Given the description of an element on the screen output the (x, y) to click on. 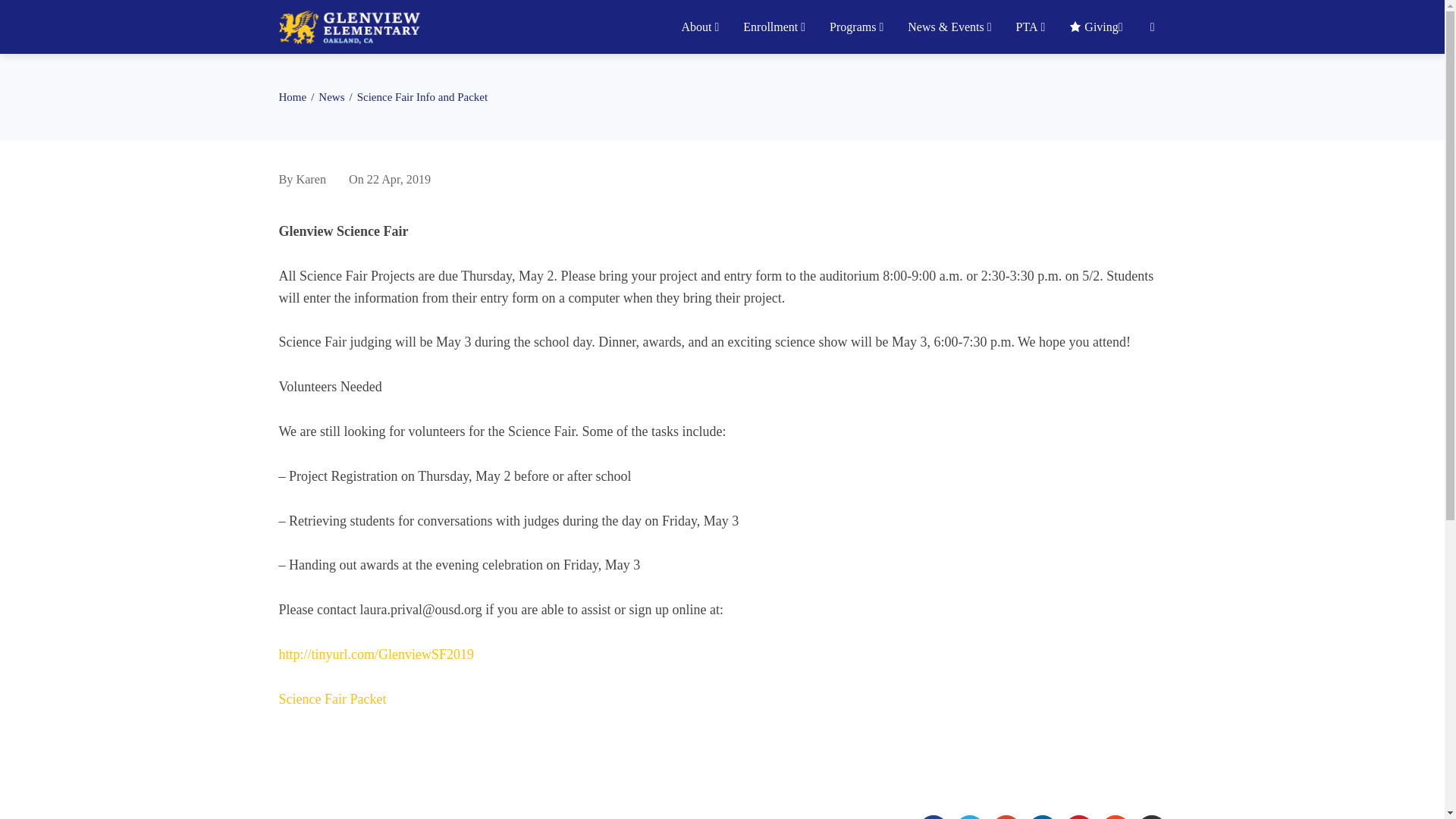
PTA (1029, 27)
Programs (854, 27)
Enrollment (772, 27)
About (697, 27)
